Given the description of an element on the screen output the (x, y) to click on. 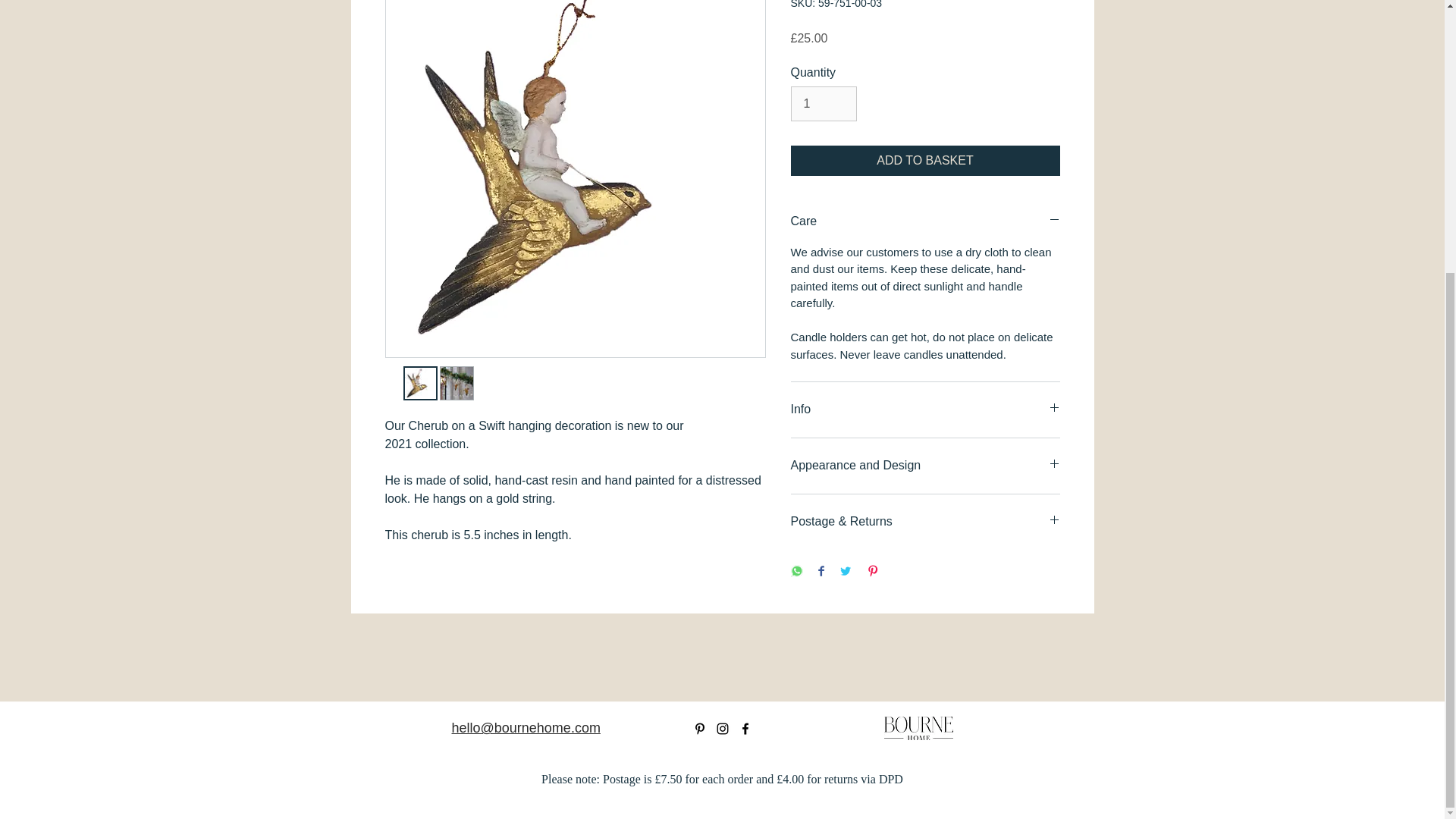
Care (924, 221)
Appearance and Design (924, 465)
ADD TO BASKET (924, 160)
Info (924, 409)
1 (823, 103)
